Given the description of an element on the screen output the (x, y) to click on. 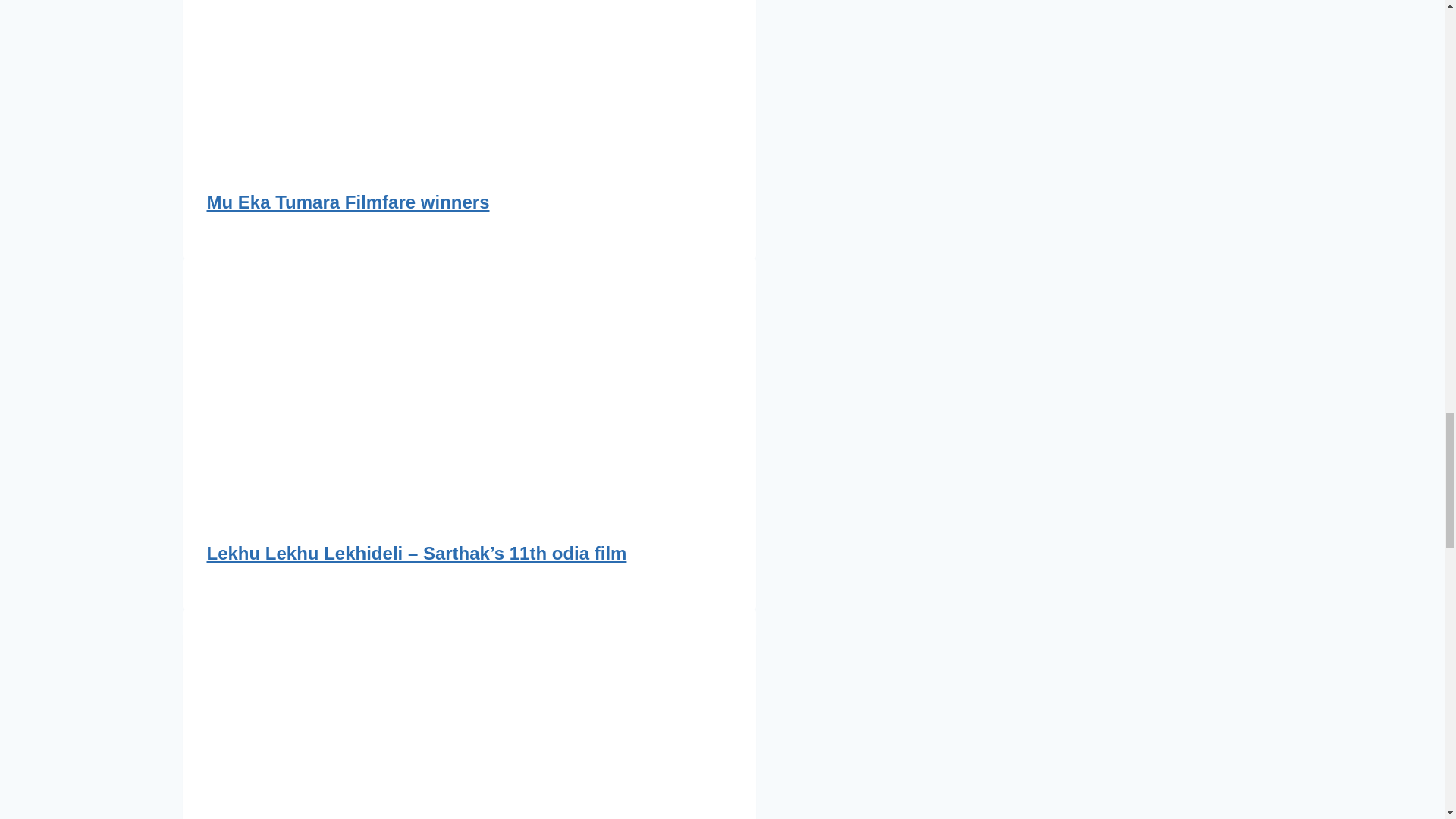
Mu Eka Tumara Filmfare winners (347, 201)
